Given the description of an element on the screen output the (x, y) to click on. 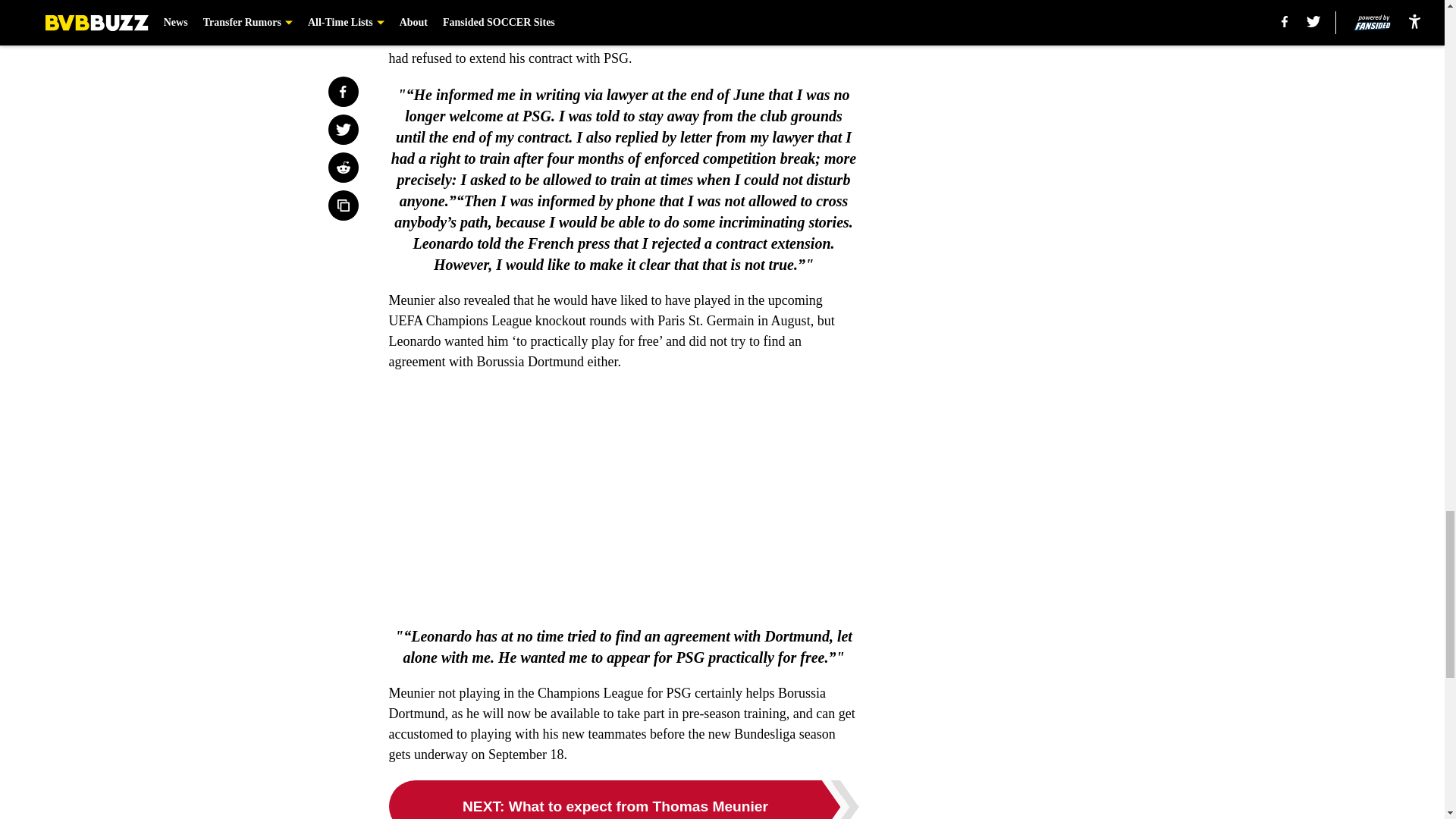
NEXT: What to expect from Thomas Meunier (623, 799)
